Given the description of an element on the screen output the (x, y) to click on. 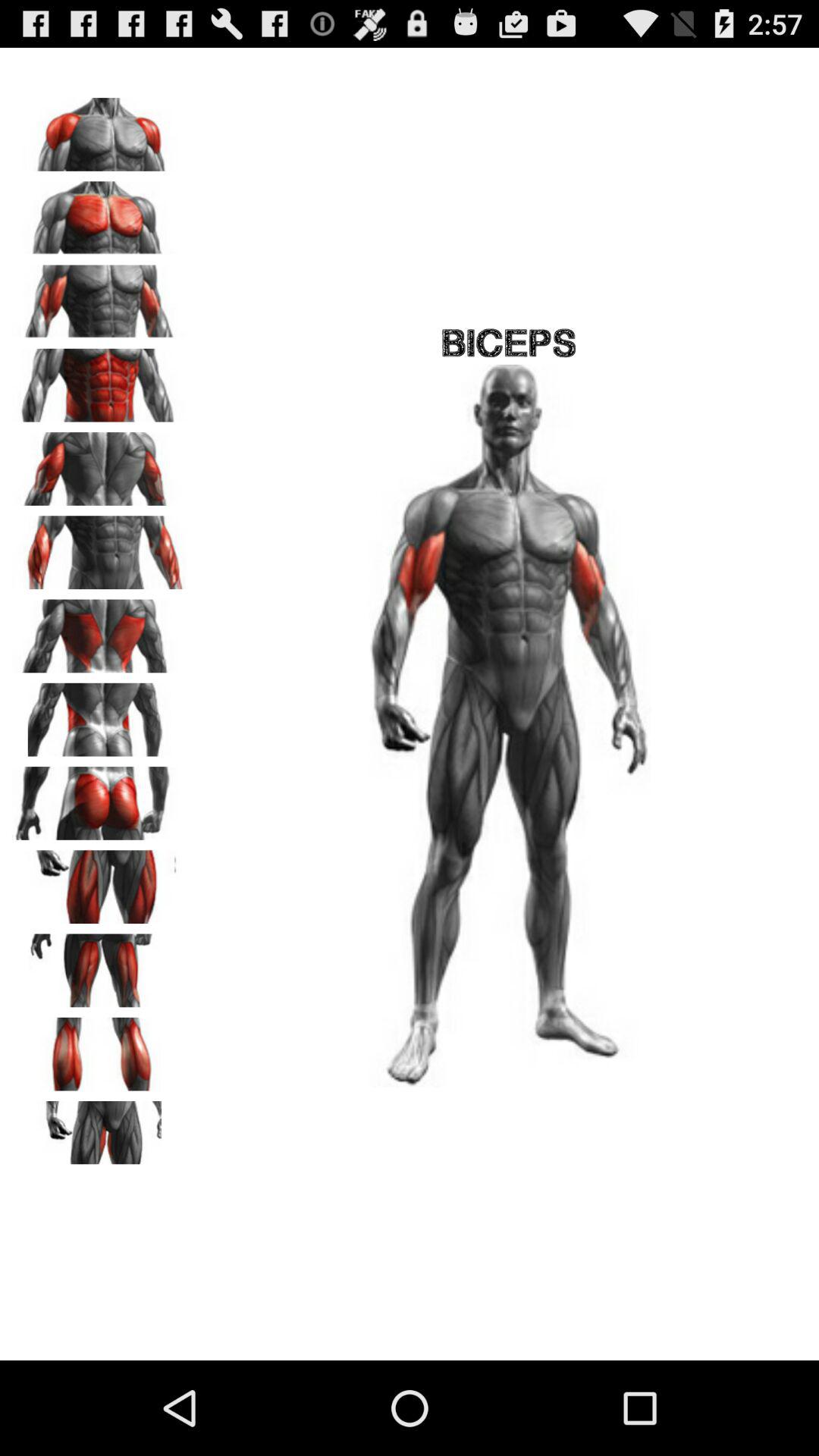
front side of the body (99, 212)
